Given the description of an element on the screen output the (x, y) to click on. 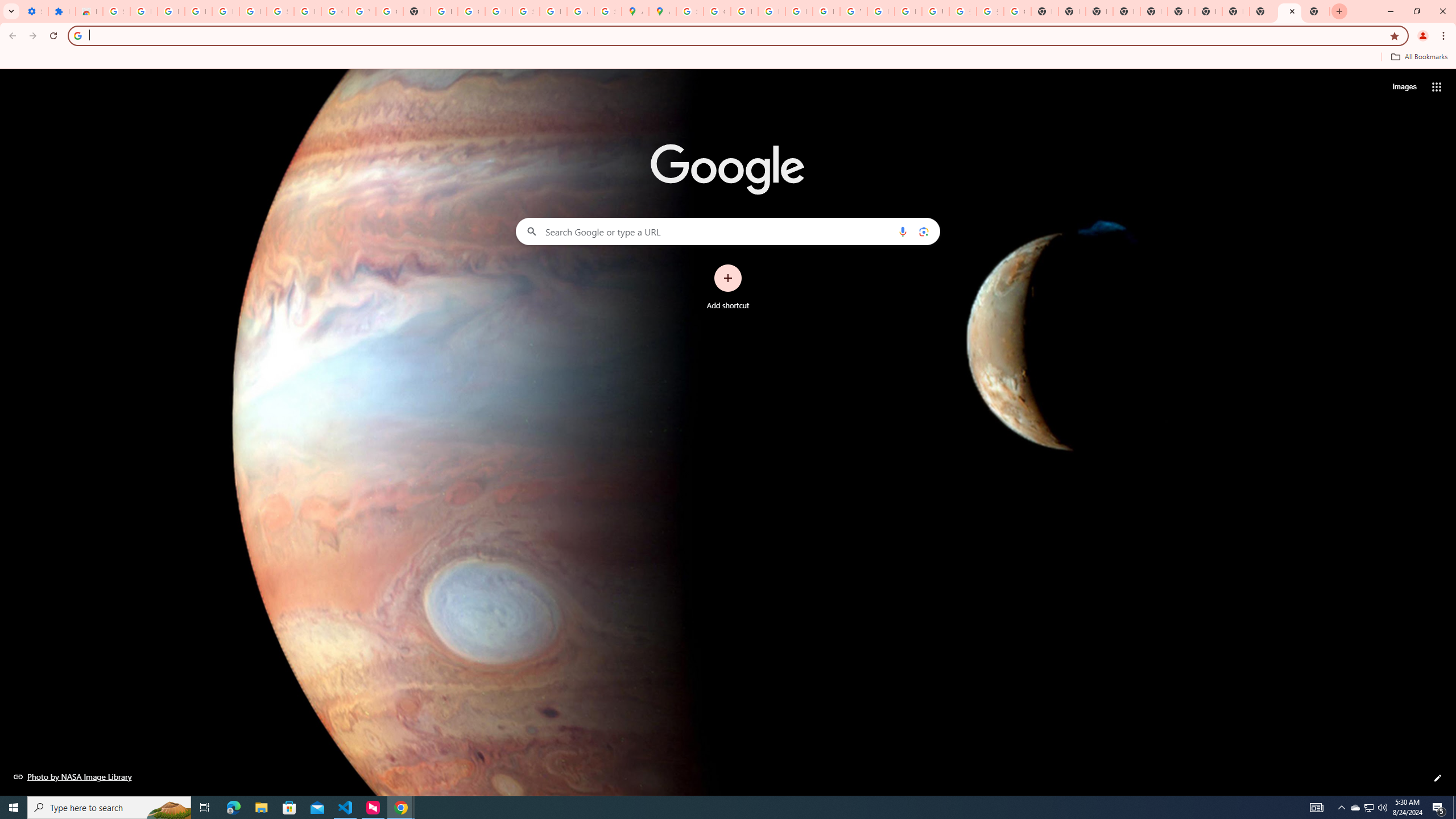
Safety in Our Products - Google Safety Center (607, 11)
Reviews: Helix Fruit Jump Arcade Game (88, 11)
Privacy Help Center - Policies Help (743, 11)
Delete photos & videos - Computer - Google Photos Help (197, 11)
Privacy Help Center - Policies Help (771, 11)
https://scholar.google.com/ (444, 11)
